Given the description of an element on the screen output the (x, y) to click on. 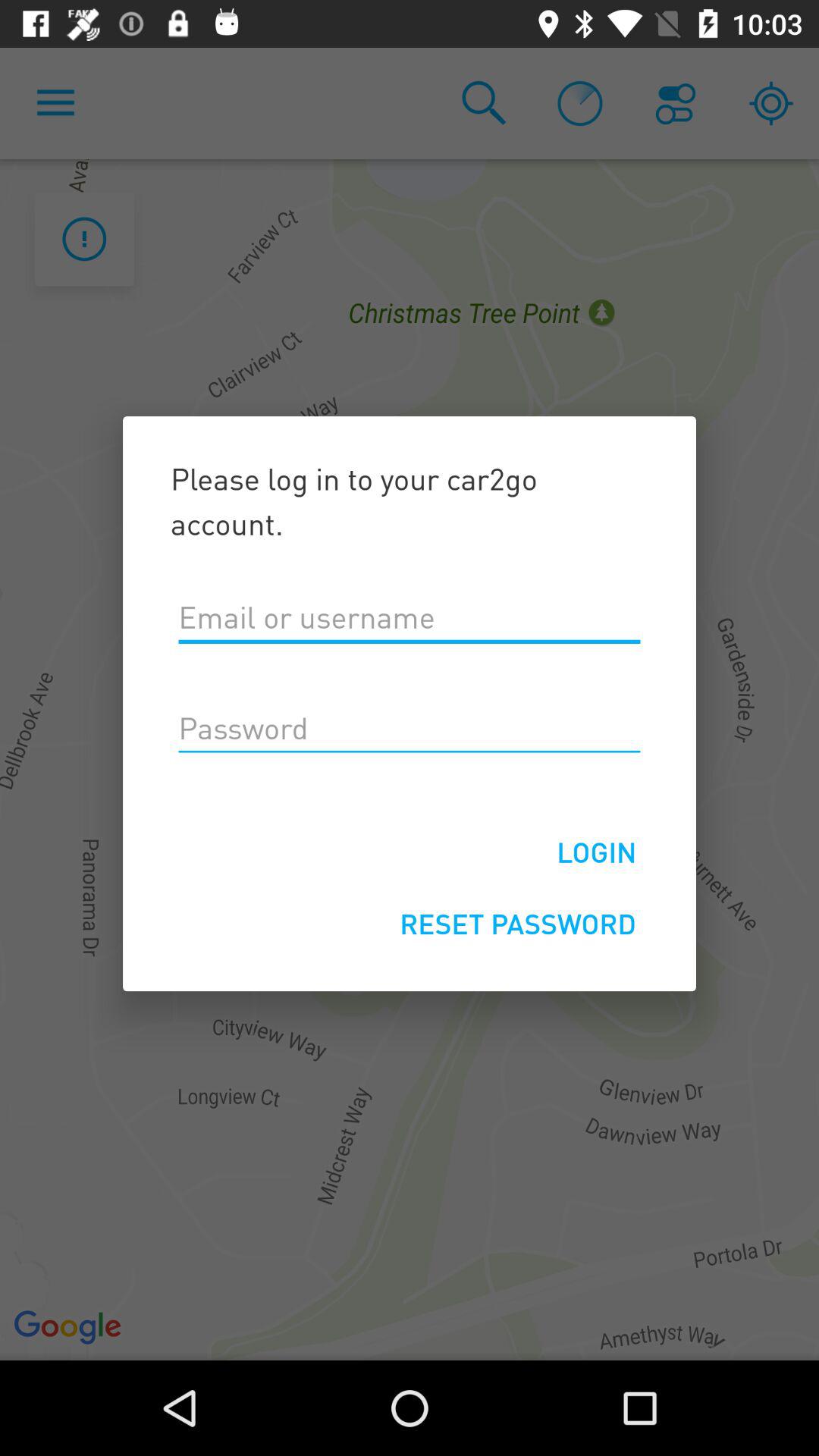
enter password (409, 728)
